Given the description of an element on the screen output the (x, y) to click on. 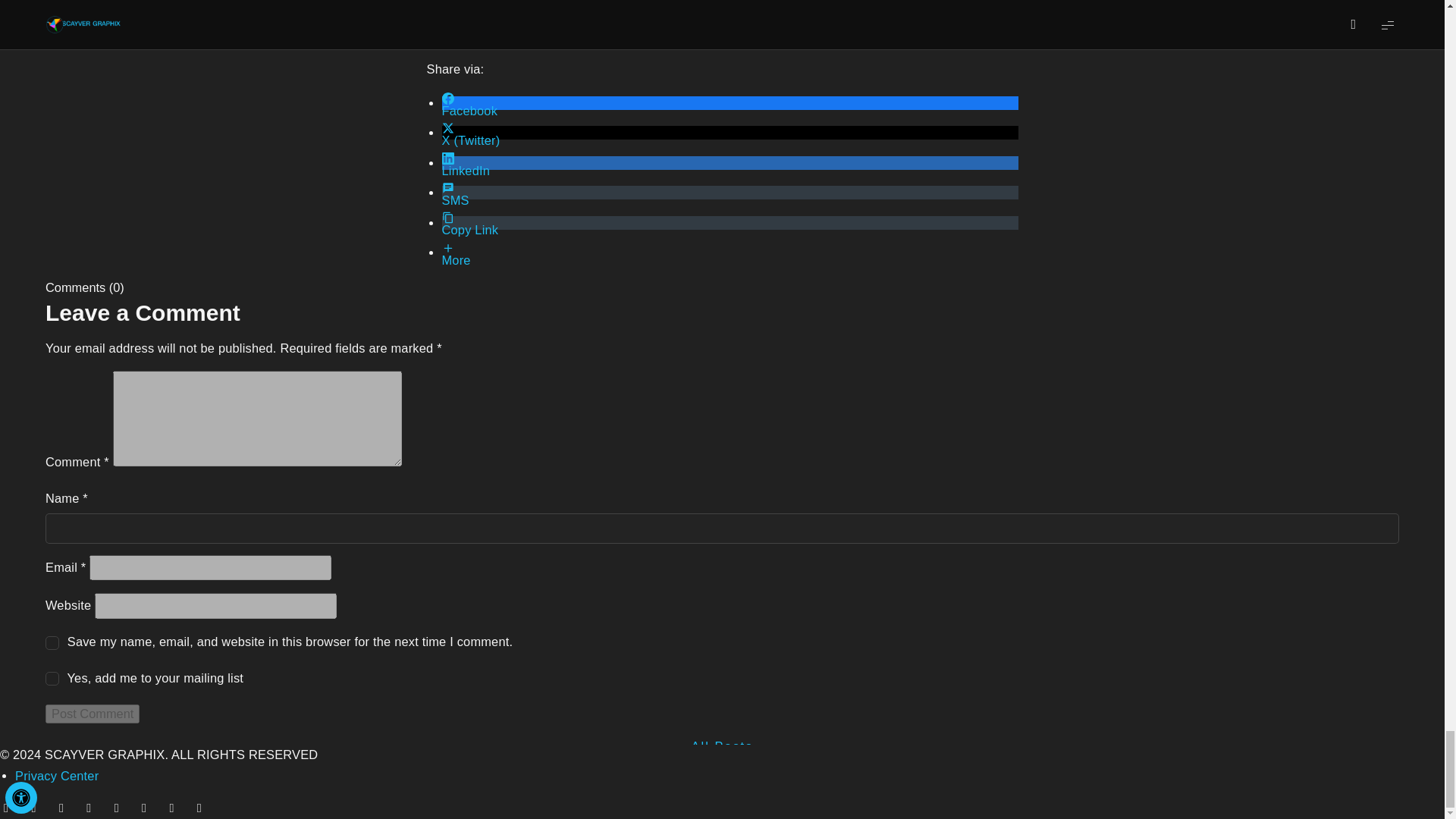
yes (52, 643)
1 (52, 678)
Post Comment (92, 713)
